Given the description of an element on the screen output the (x, y) to click on. 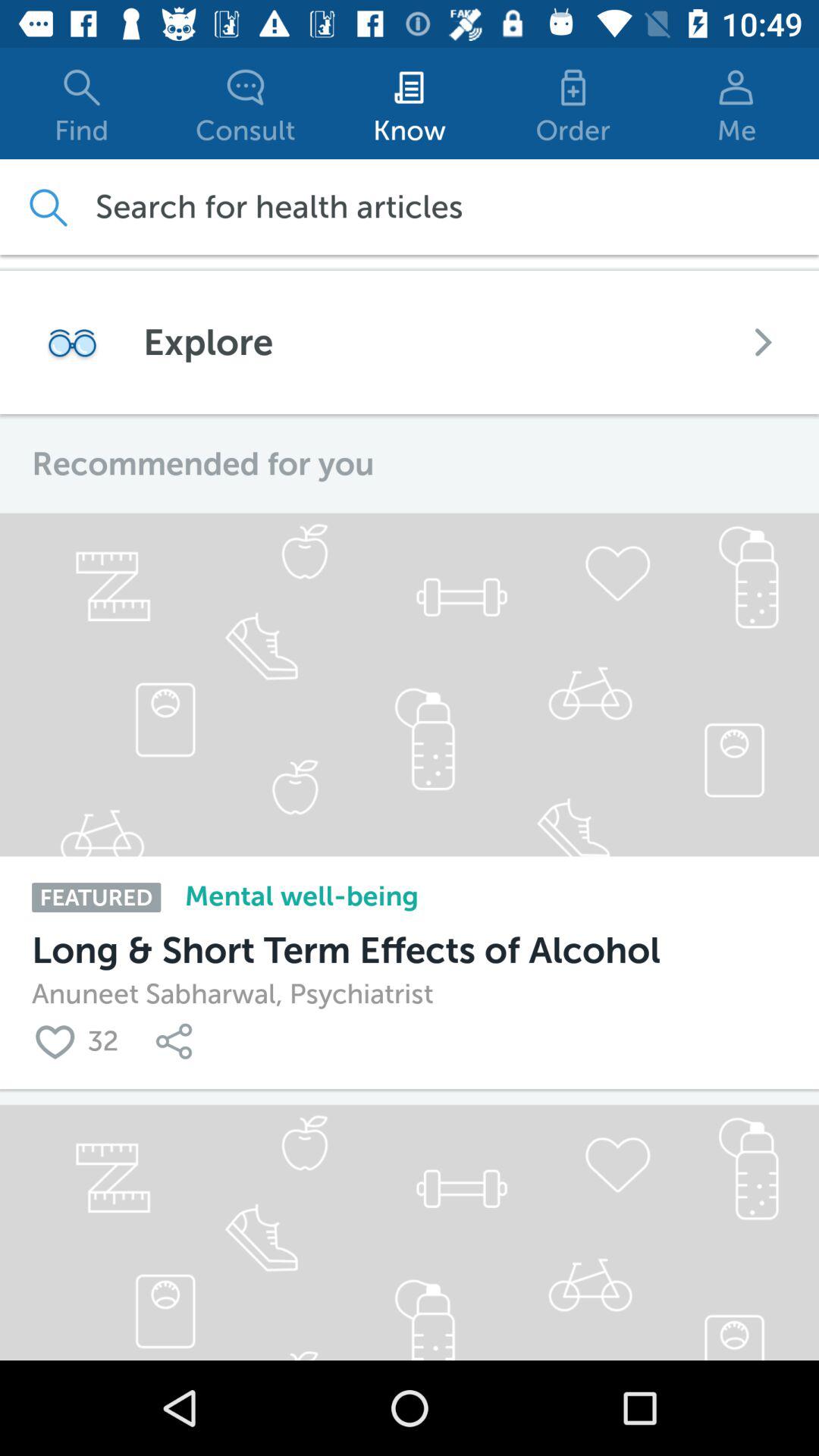
favorite this article (59, 1041)
